Given the description of an element on the screen output the (x, y) to click on. 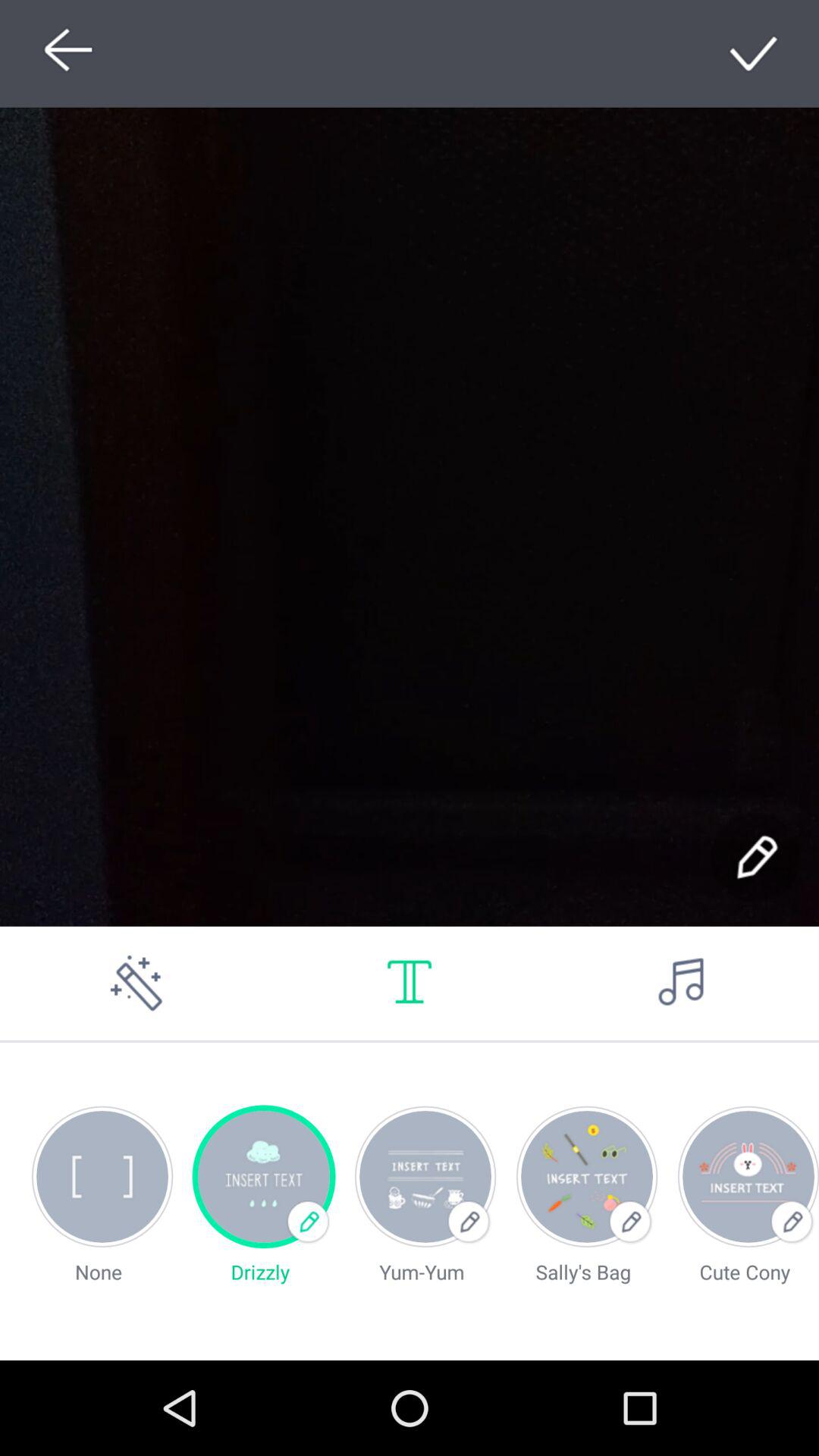
go previous (63, 53)
